Given the description of an element on the screen output the (x, y) to click on. 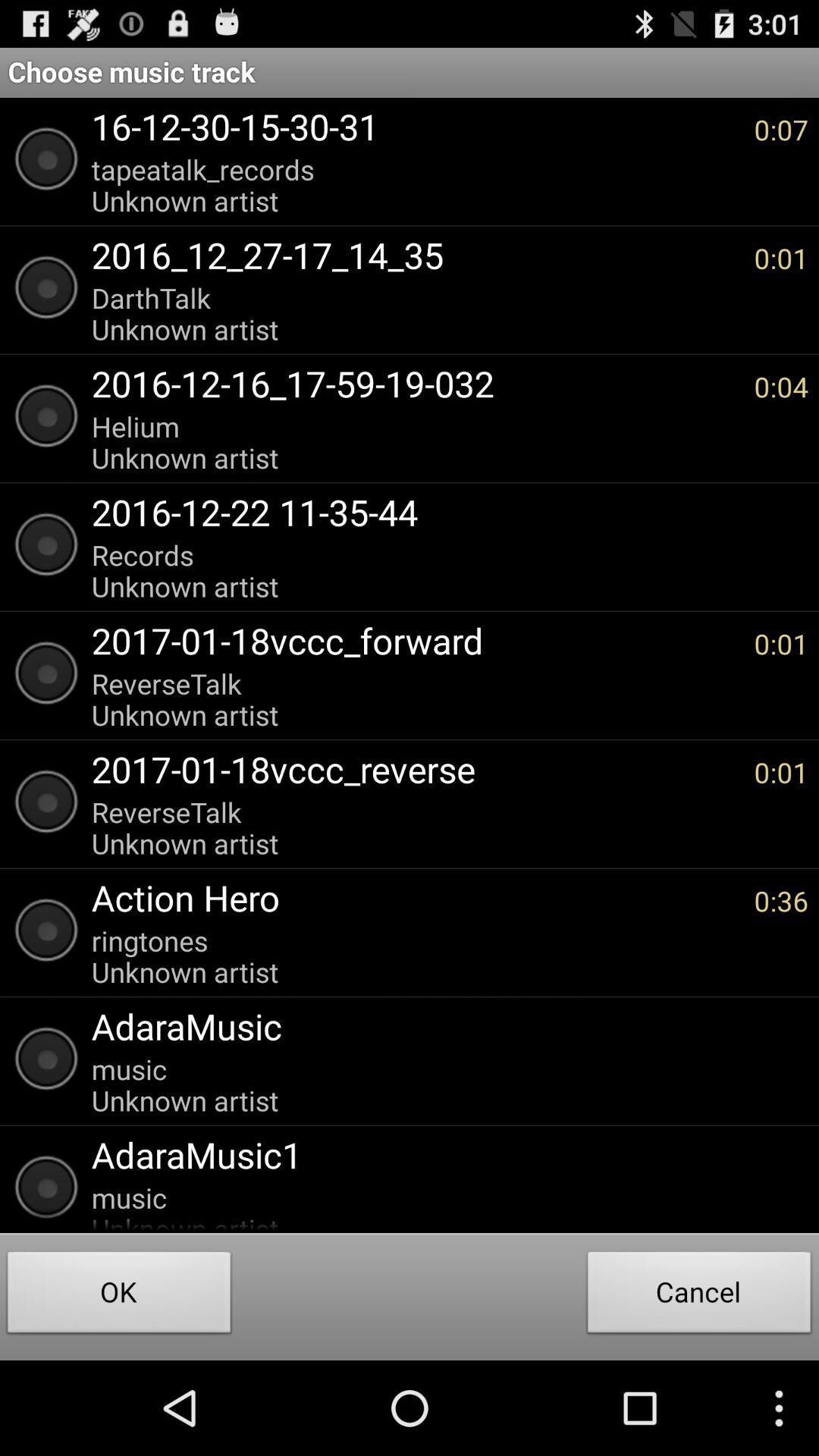
turn off the app above music
unknown artist icon (441, 1026)
